Given the description of an element on the screen output the (x, y) to click on. 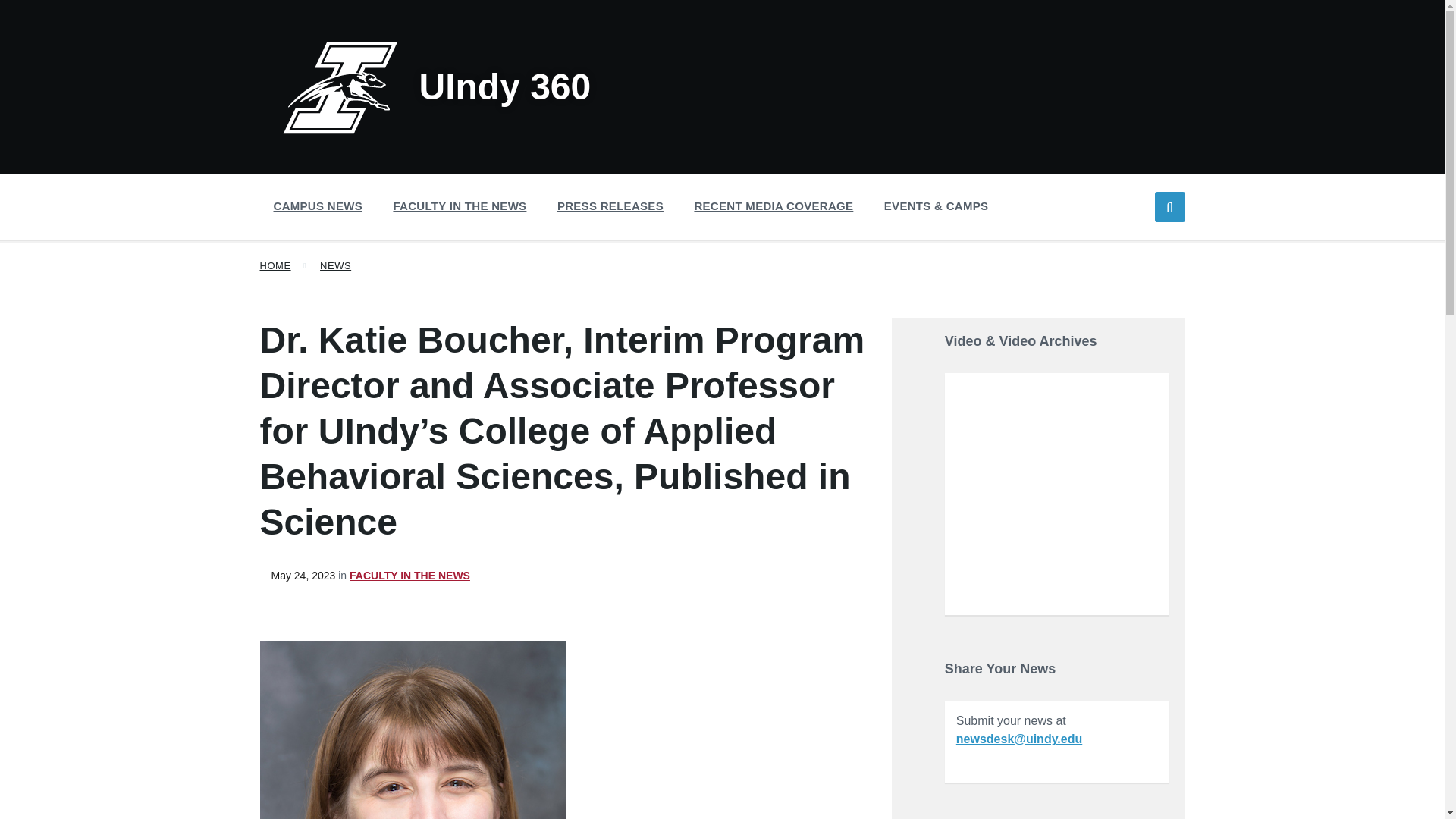
FACULTY IN THE NEWS (459, 205)
RECENT MEDIA COVERAGE (772, 205)
Expand search (1169, 206)
CAMPUS NEWS (317, 205)
PRESS RELEASES (609, 205)
UIndy 360 (436, 87)
YouTube video player (1057, 492)
Category (403, 575)
